Given the description of an element on the screen output the (x, y) to click on. 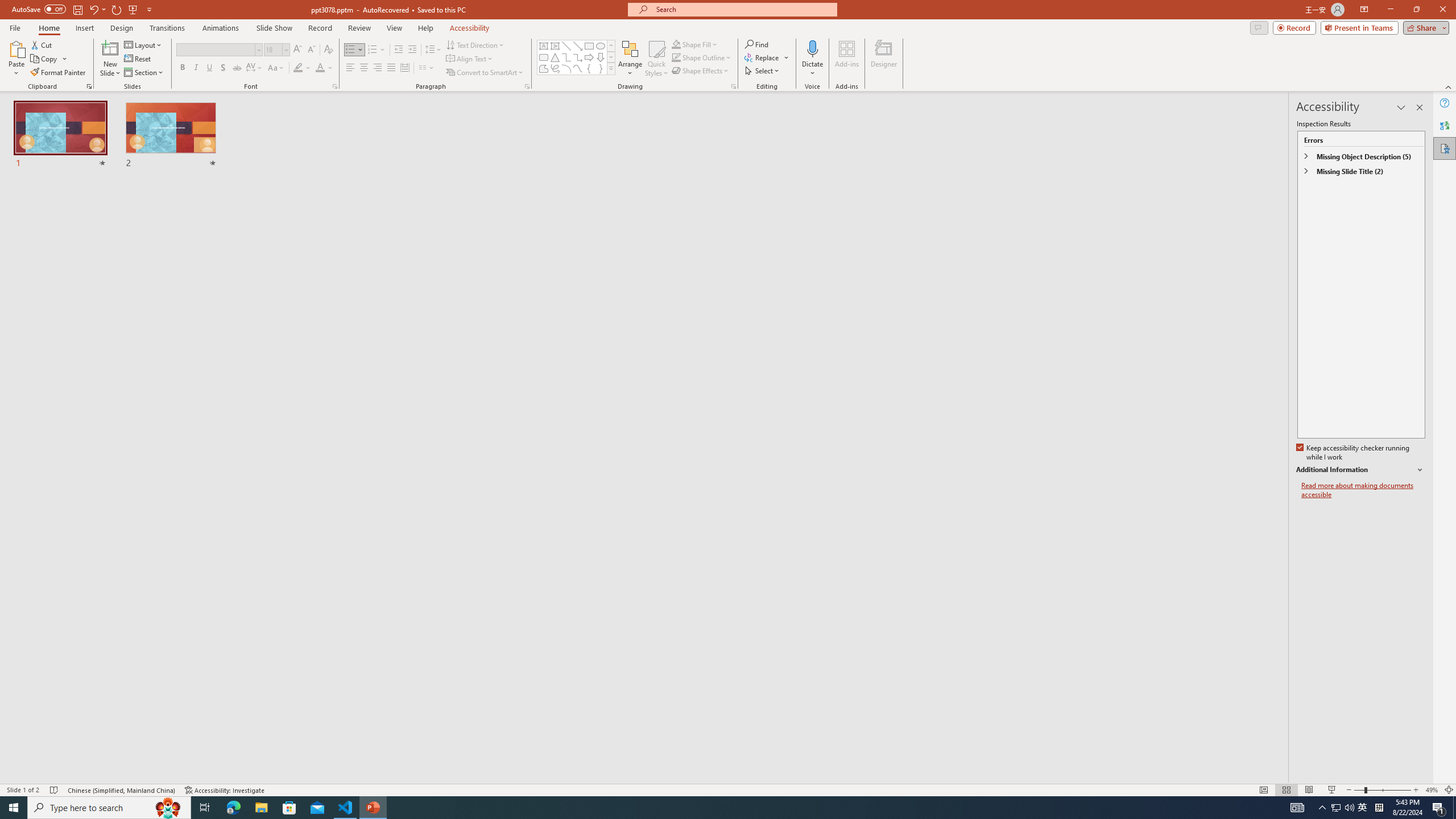
Zoom 49% (1431, 790)
